Given the description of an element on the screen output the (x, y) to click on. 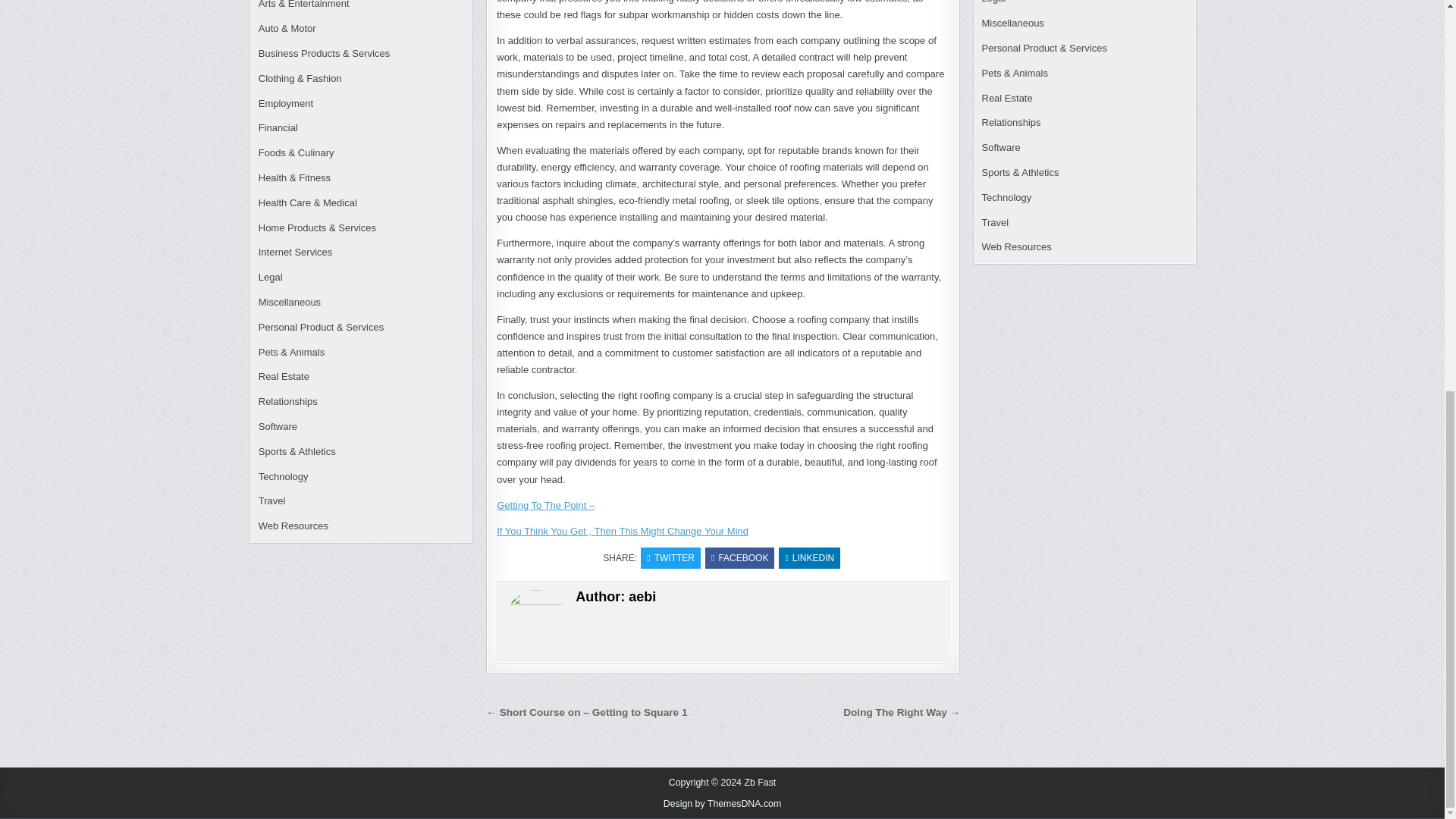
Legal (270, 276)
Financial (278, 127)
Tweet This! (670, 557)
Employment (286, 102)
Miscellaneous (289, 301)
Share this on Facebook (739, 557)
Internet Services (296, 251)
Share this on Linkedin (809, 557)
